Given the description of an element on the screen output the (x, y) to click on. 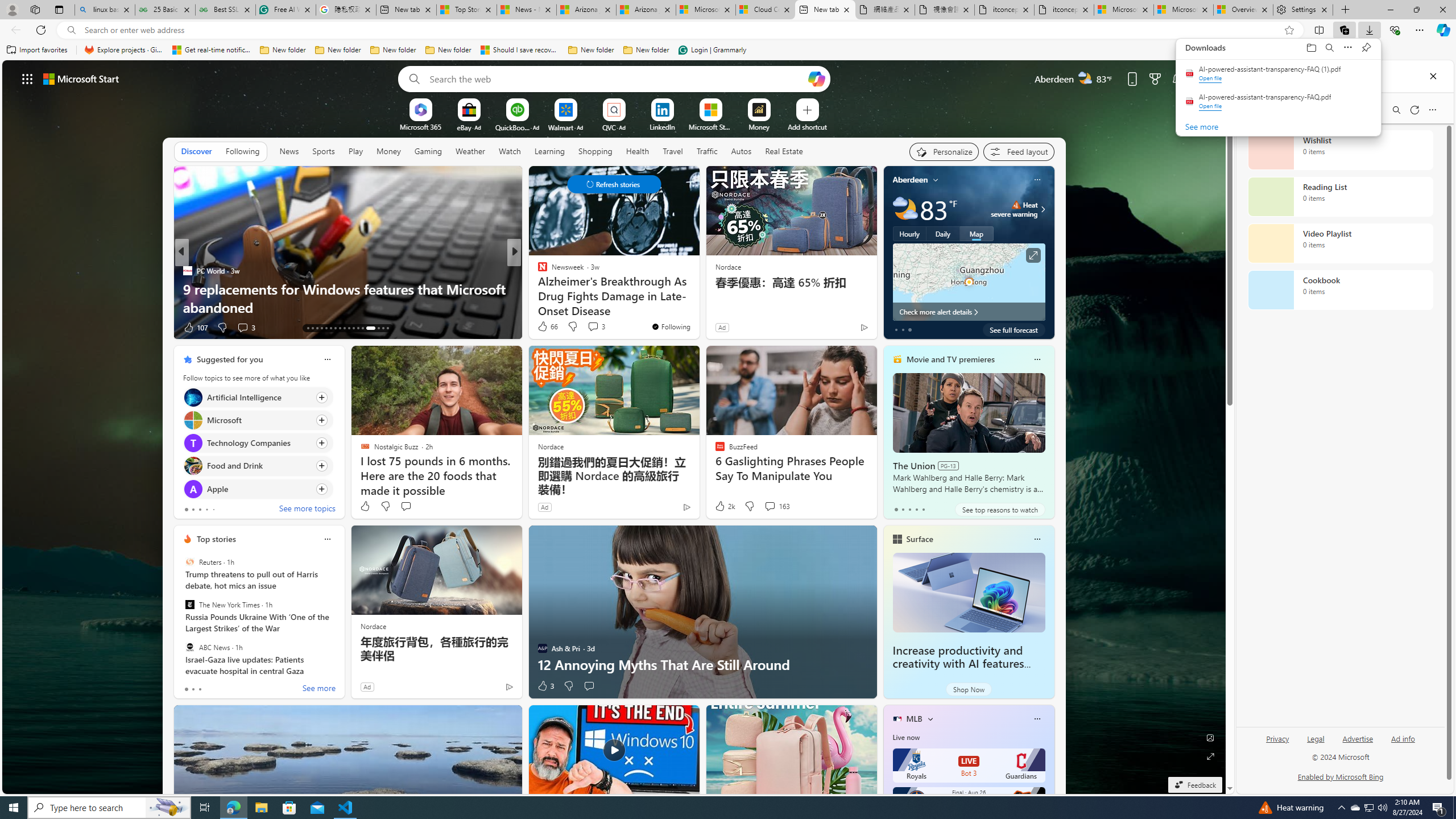
View comments 16 Comment (592, 327)
Money (388, 151)
Travel (672, 151)
View comments 3 Comment (592, 326)
Click to see more information (1033, 255)
Movie and TV premieres (949, 359)
Search downloads (1330, 47)
AutomationID: tab-29 (387, 328)
Legal (1315, 738)
Heat - Severe (1015, 204)
